Given the description of an element on the screen output the (x, y) to click on. 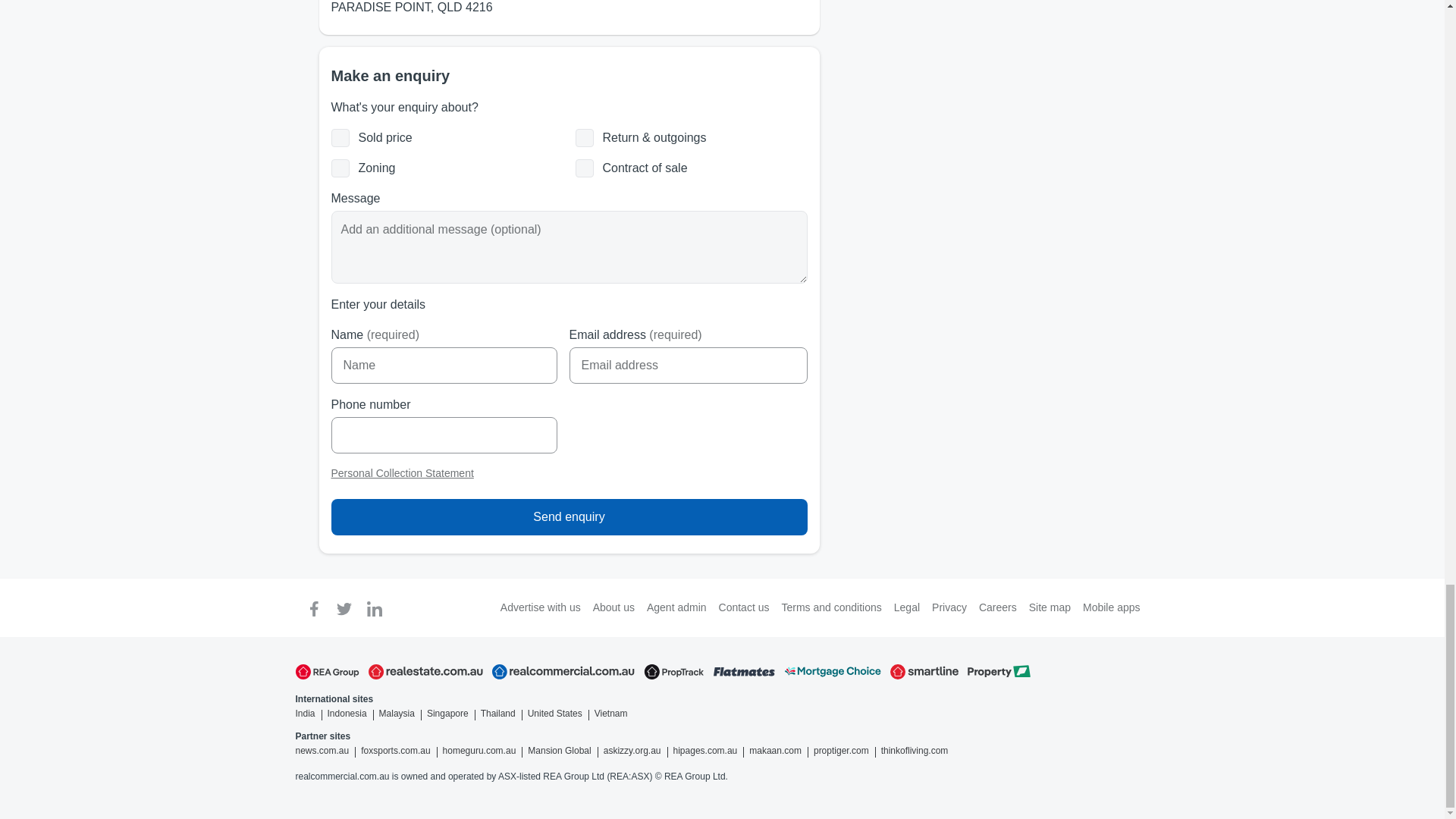
REA Group corporate website (327, 671)
realestate.com.au LinkedIn (374, 607)
realcommercial.com.au: Search for commercial real estate (562, 671)
realestate.com.au Facebook (313, 607)
Advertise with realcommercial.com.au (540, 607)
About realcommercial.com.au (613, 607)
Contact realcommercial.com.au (744, 607)
realestate.com.au: Real estate to buy and rent (425, 671)
Agent administration (676, 607)
